Given the description of an element on the screen output the (x, y) to click on. 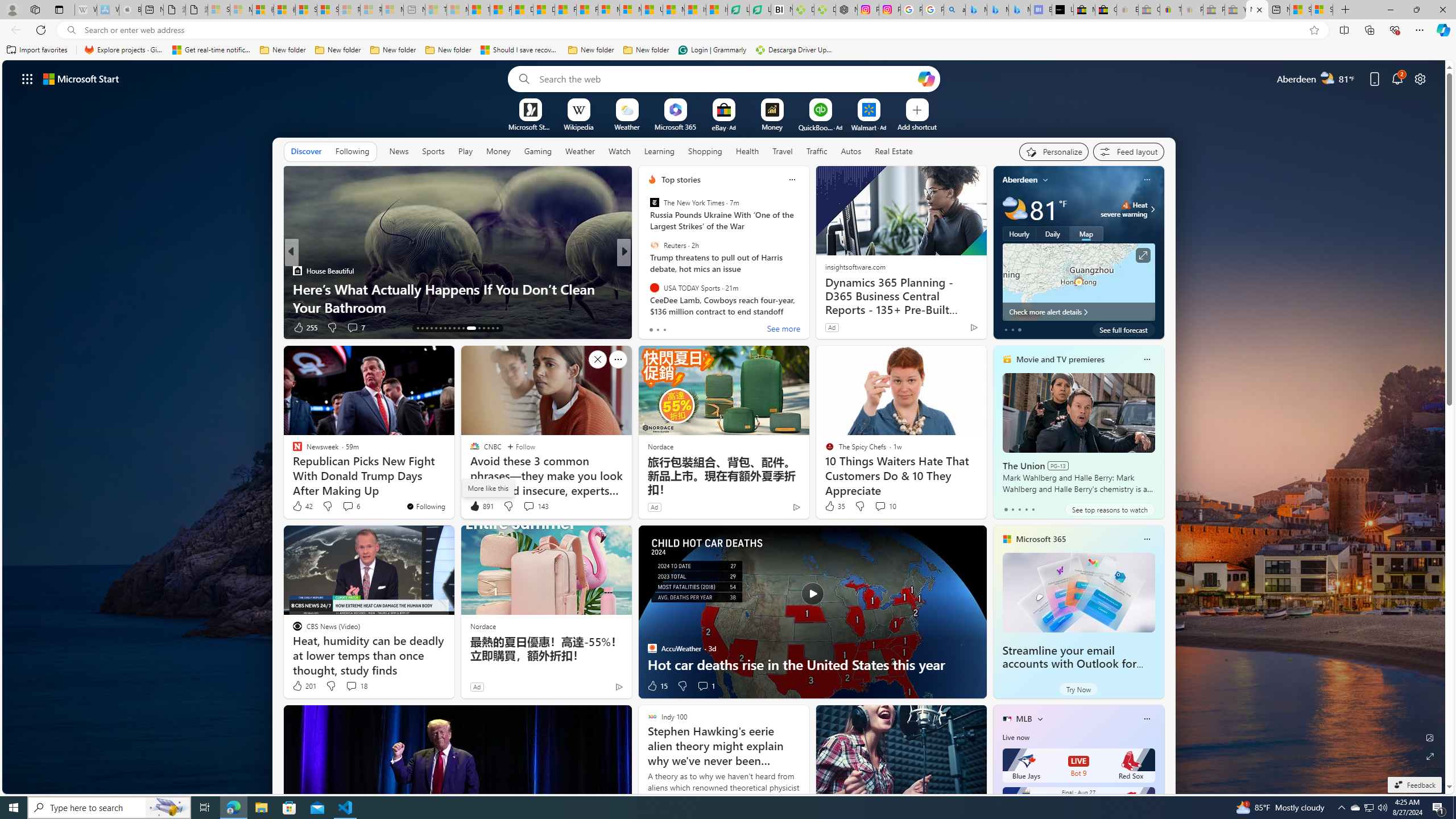
Daily (1052, 233)
Buy iPad - Apple - Sleeping (130, 9)
View comments 460 Comment (709, 327)
Map (1085, 233)
Microsoft start (81, 78)
AutomationID: tab-21 (454, 328)
